Given the description of an element on the screen output the (x, y) to click on. 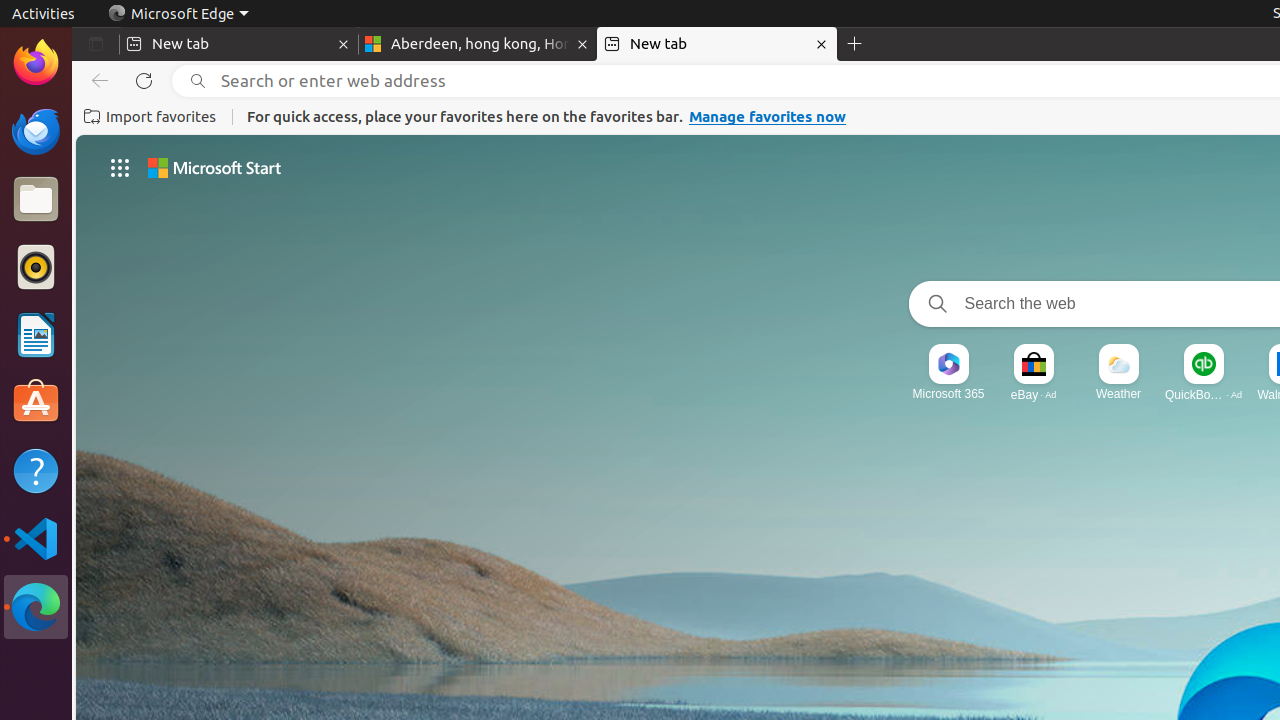
QuickBooks · Ad Element type: link (1203, 393)
Ad Element type: link (1051, 394)
Files Element type: push-button (36, 199)
Refresh Element type: push-button (144, 81)
Aberdeen, hong kong, Hong Kong SAR weather forecast | Microsoft Weather Element type: page-tab (478, 44)
